Given the description of an element on the screen output the (x, y) to click on. 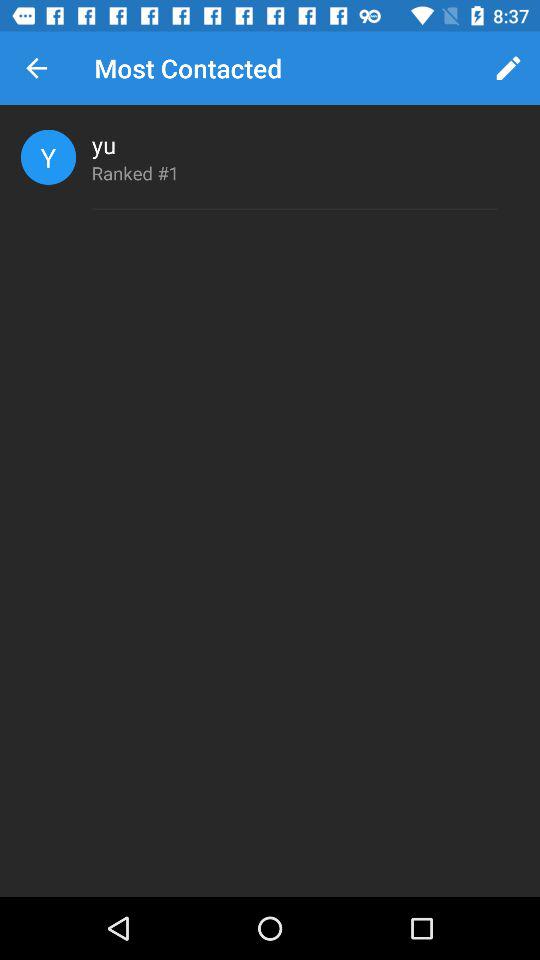
turn off icon below yu icon (135, 172)
